Given the description of an element on the screen output the (x, y) to click on. 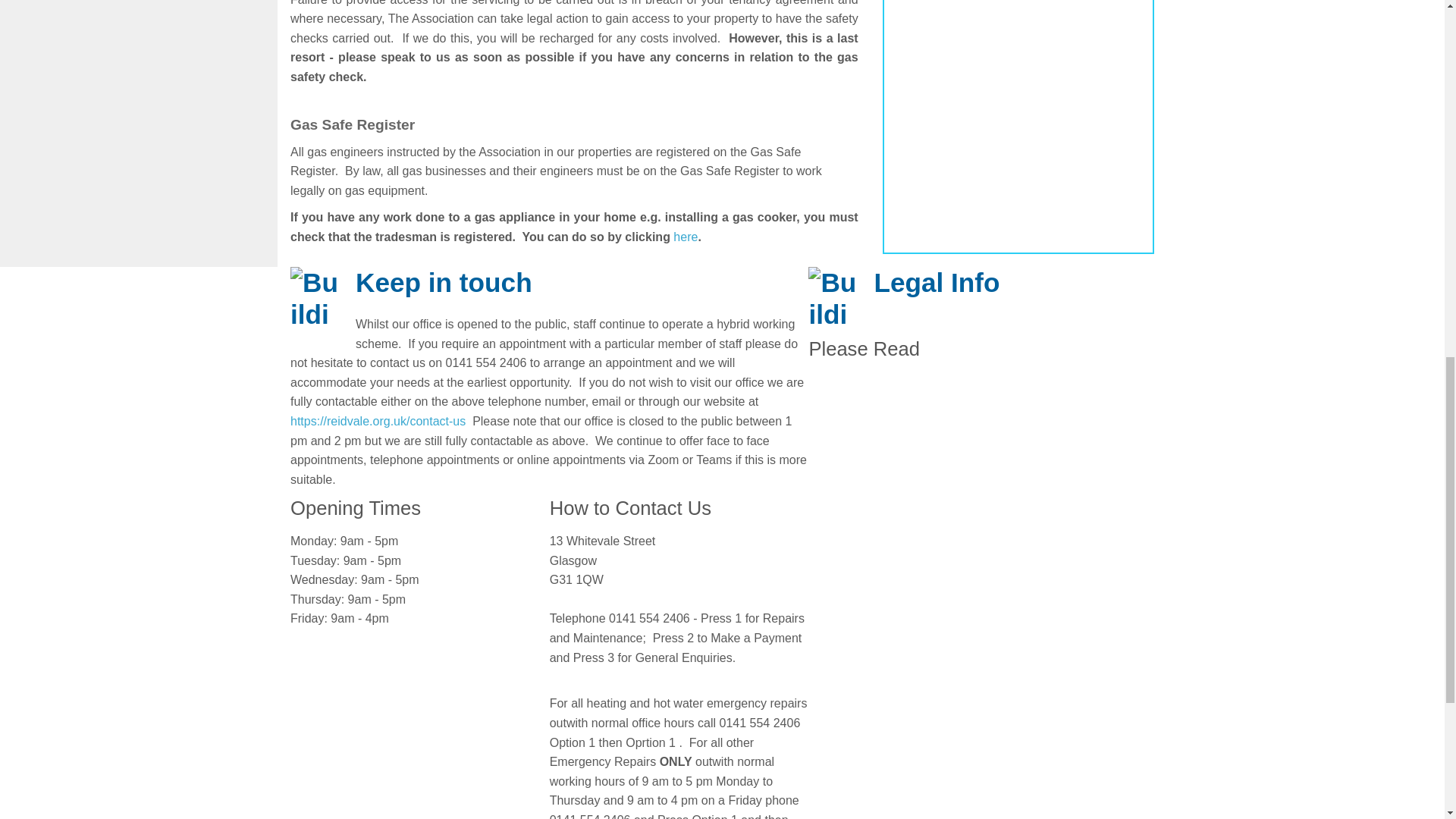
Gas Safe Register (684, 236)
